Given the description of an element on the screen output the (x, y) to click on. 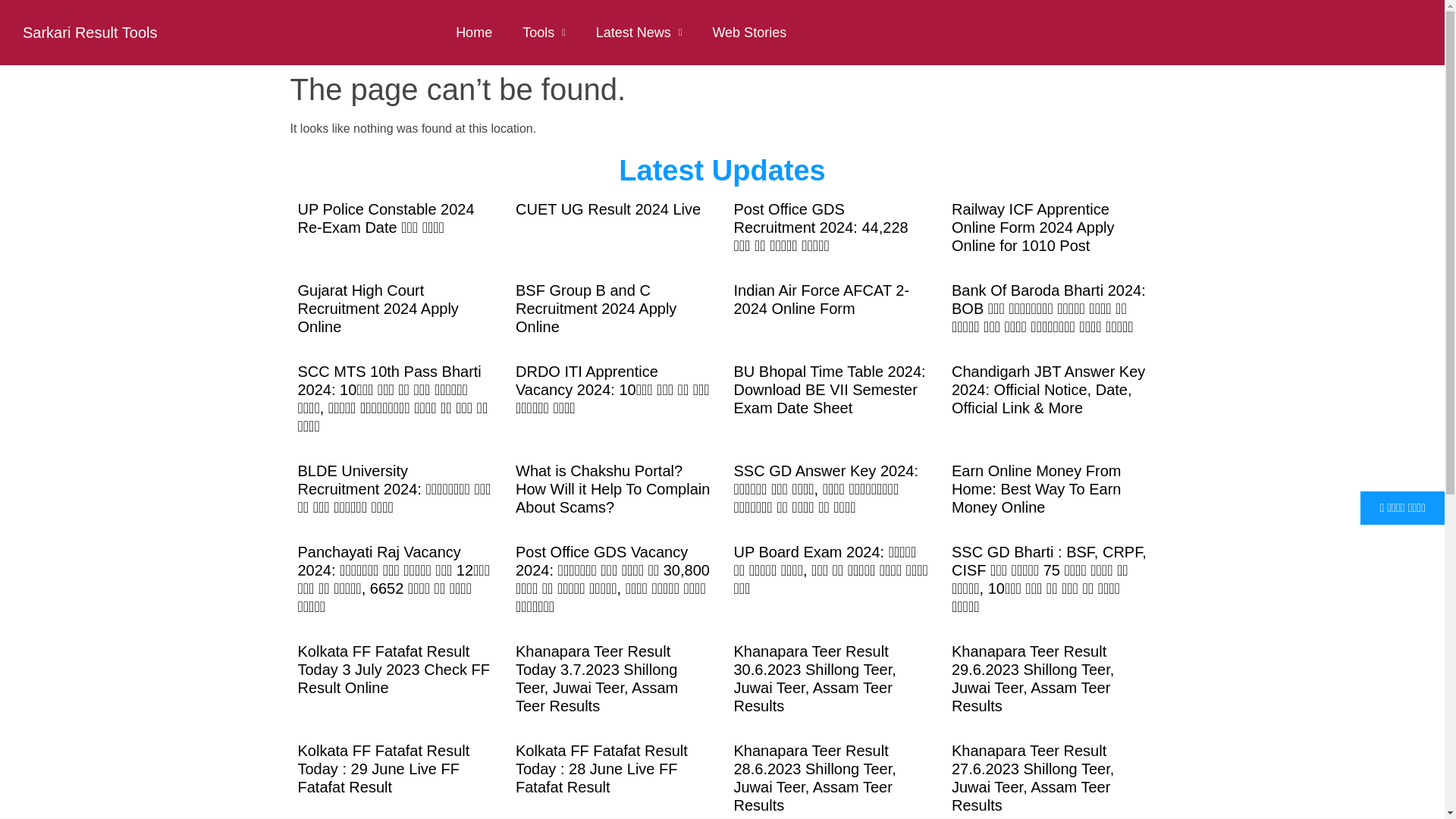
Sarkari Result Tools (90, 32)
Web Stories (749, 32)
Home (473, 32)
Advertisement (729, 779)
Tools (543, 32)
Latest News (638, 32)
